Given the description of an element on the screen output the (x, y) to click on. 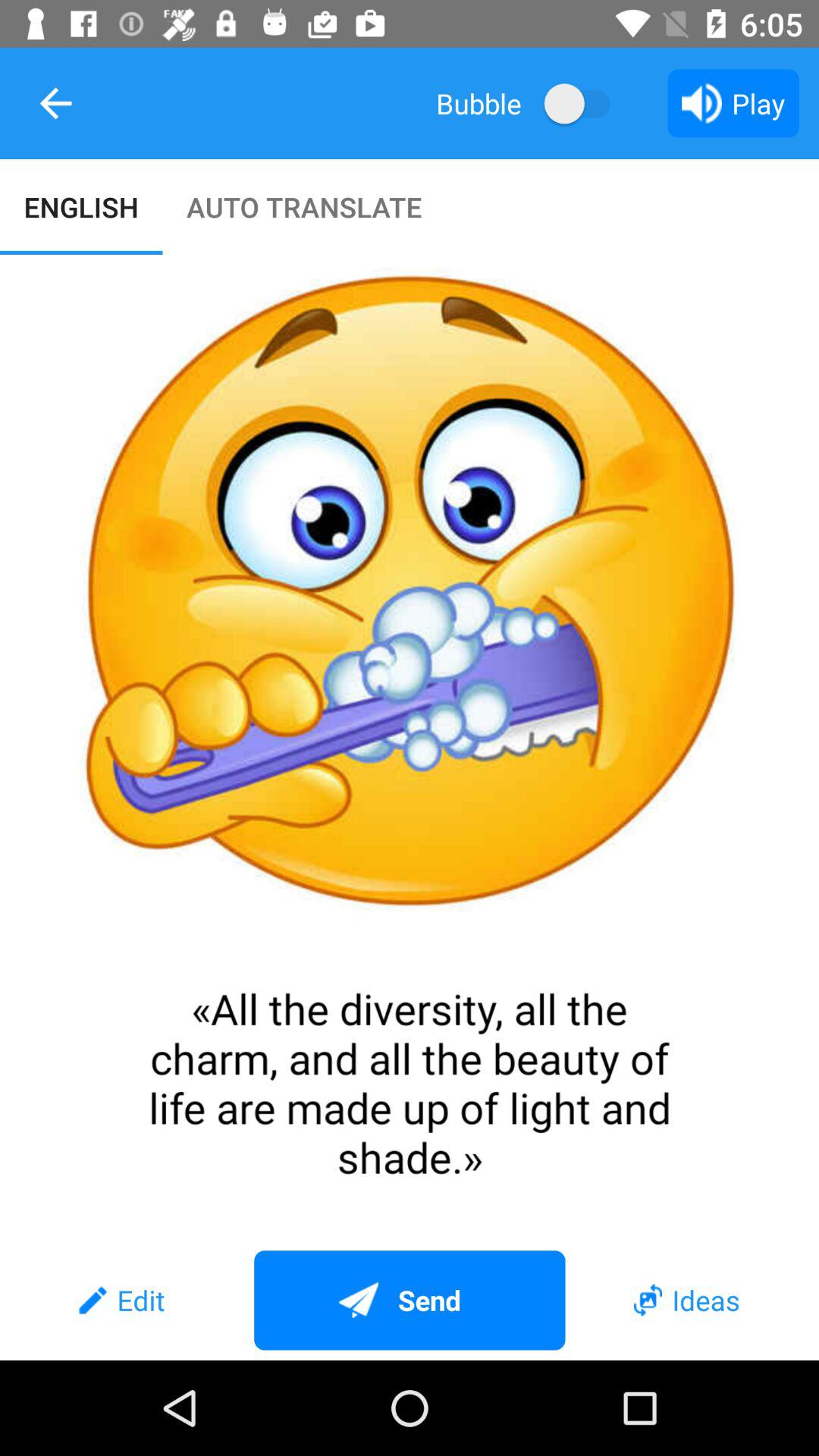
toggle bubble (584, 103)
